Given the description of an element on the screen output the (x, y) to click on. 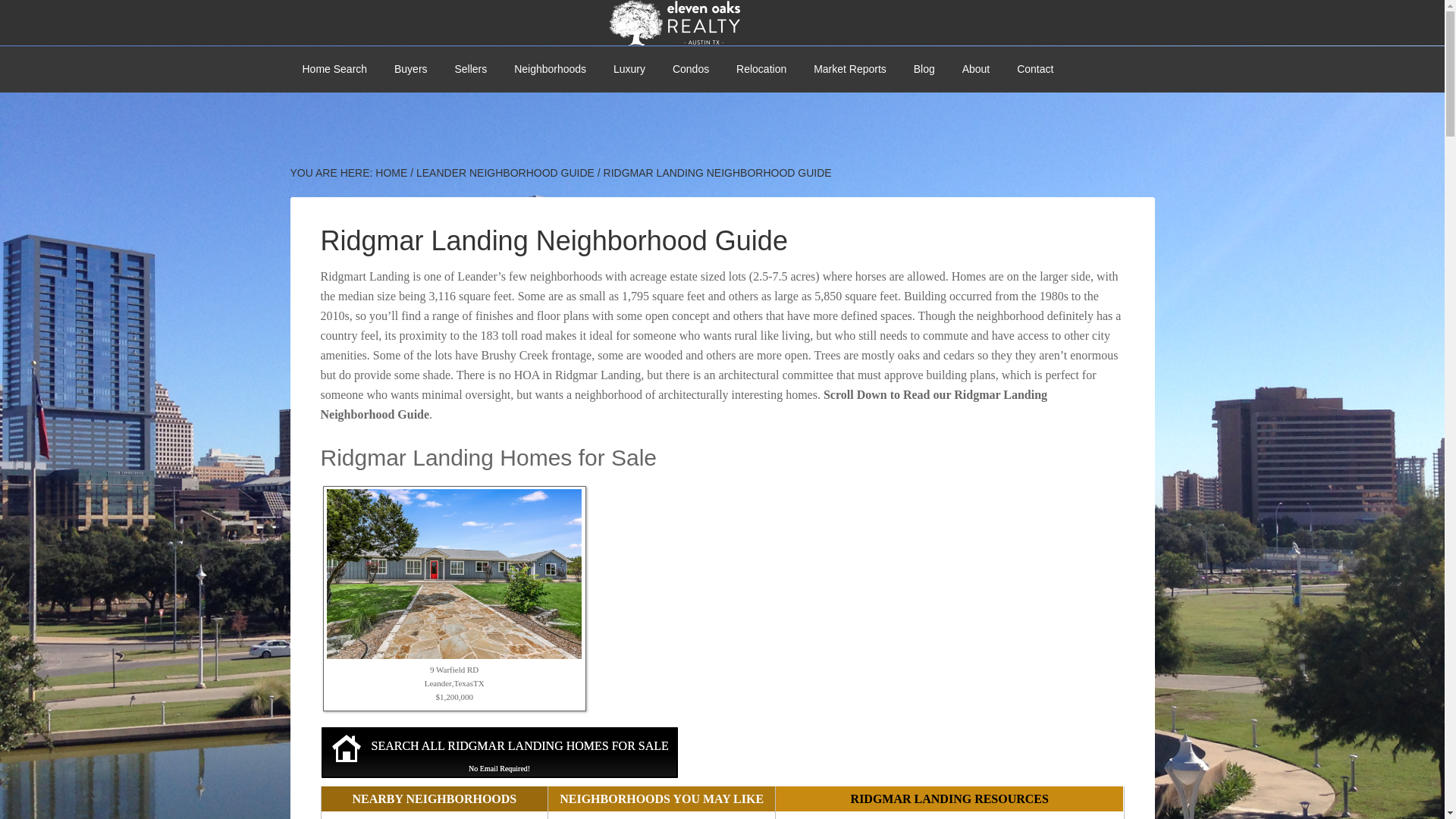
Buyers (410, 68)
Search All Ridgmar Landing Homes for Sale (499, 752)
Home Search (333, 68)
Market Reports (850, 68)
HOME (391, 173)
Austin Home Sellers (470, 68)
Sellers (470, 68)
Neighborhoods (550, 68)
Austin Neighborhood Guide (550, 68)
Blog (924, 68)
LEANDER NEIGHBORHOOD GUIDE (505, 173)
About Eleven Oaks Realty (976, 68)
Austin Home Buyers (410, 68)
Relocating to Austin (760, 68)
How to Contact Eleven Oaks Realty (1034, 68)
